Given the description of an element on the screen output the (x, y) to click on. 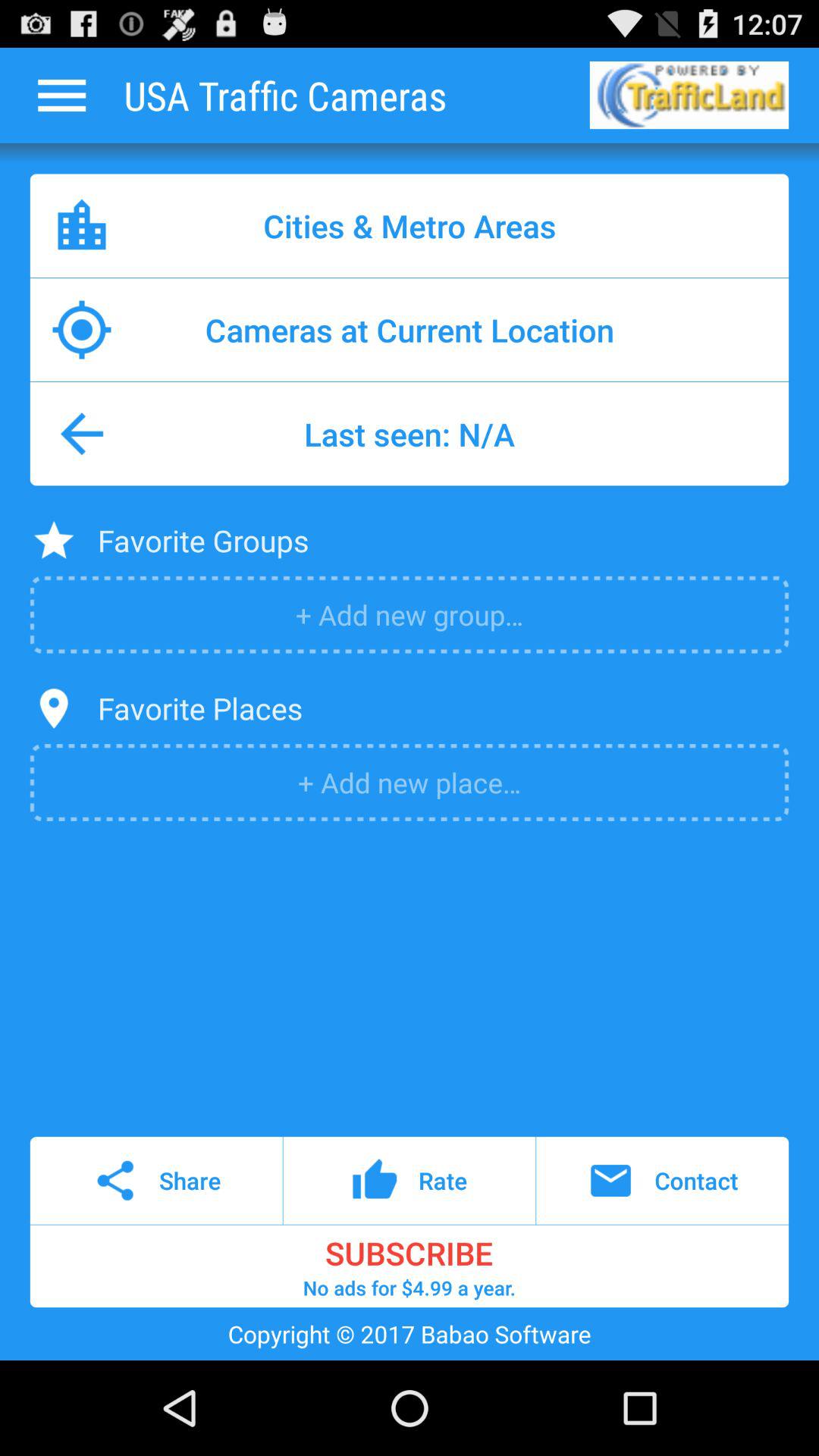
turn off icon below the cities & metro areas (409, 329)
